Given the description of an element on the screen output the (x, y) to click on. 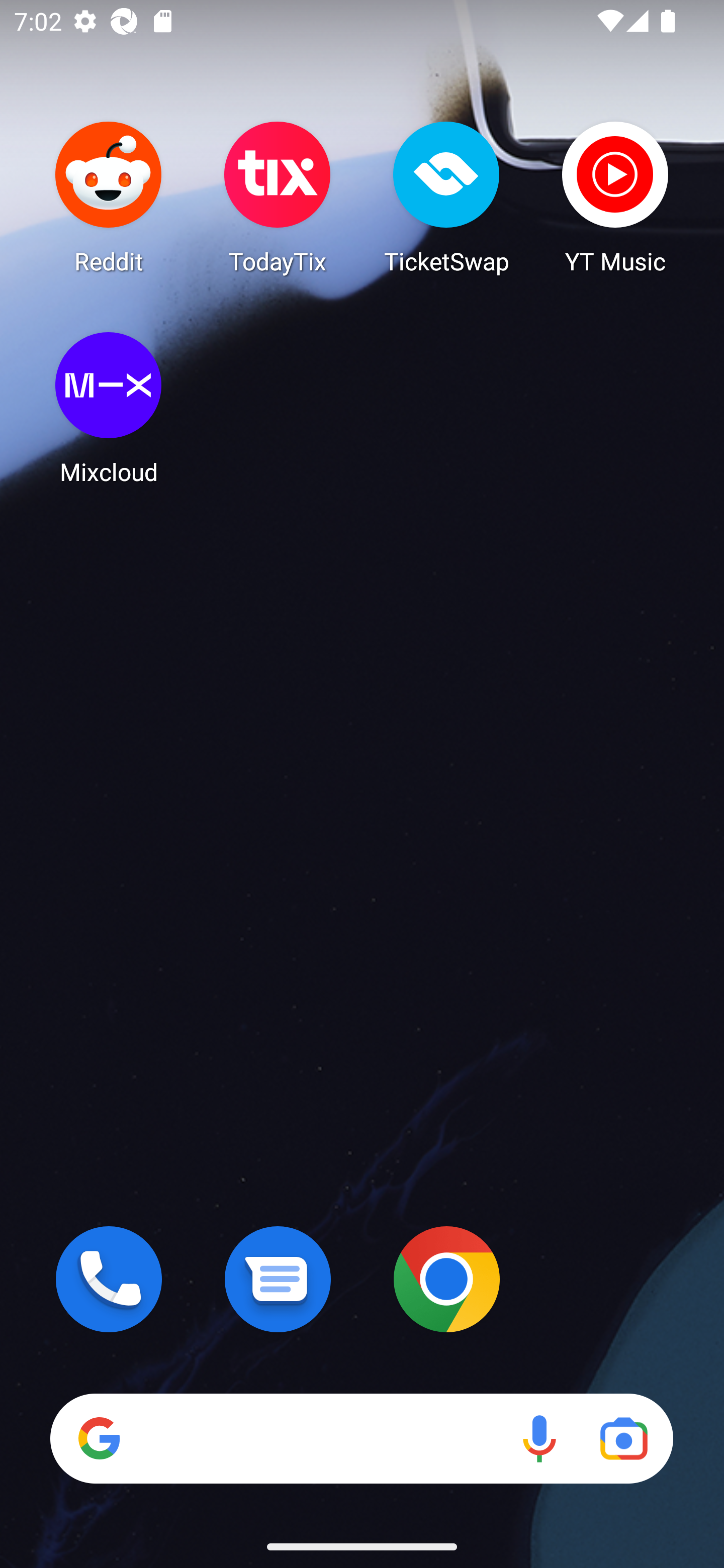
Reddit (108, 196)
TodayTix (277, 196)
TicketSwap (445, 196)
YT Music (615, 196)
Mixcloud (108, 407)
Phone (108, 1279)
Messages (277, 1279)
Chrome (446, 1279)
Voice search (539, 1438)
Google Lens (623, 1438)
